Given the description of an element on the screen output the (x, y) to click on. 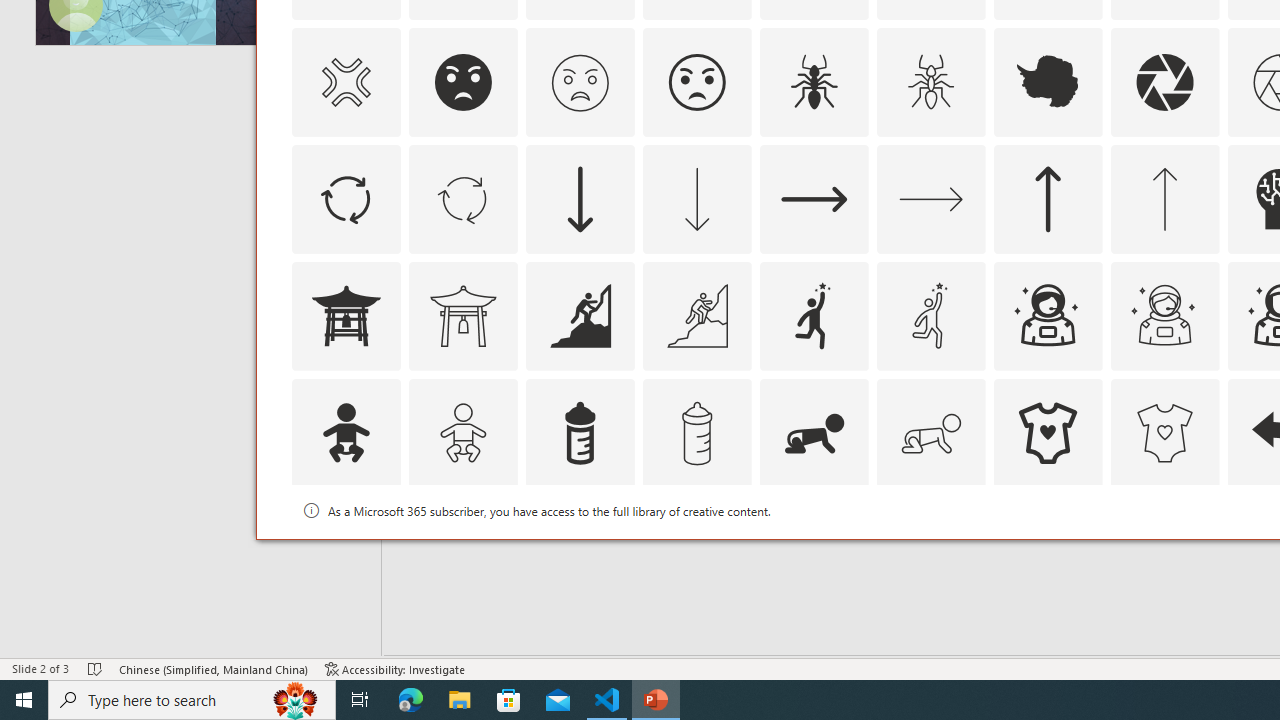
AutomationID: Icons_Badge4 (930, 550)
